Given the description of an element on the screen output the (x, y) to click on. 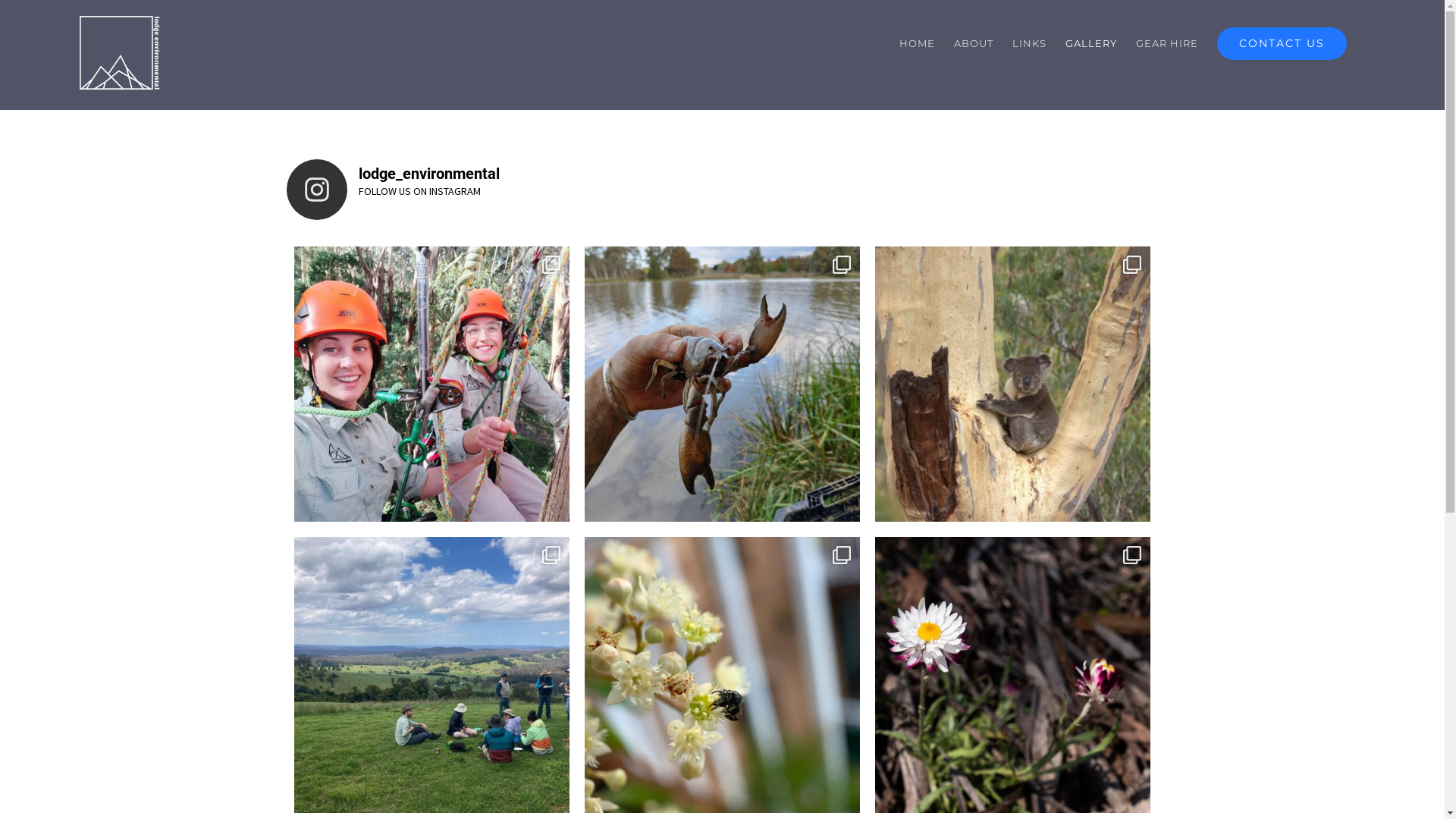
GALLERY Element type: text (1091, 42)
GEAR HIRE Element type: text (1166, 42)
lodge_environmental
FOLLOW US ON INSTAGRAM Element type: text (722, 189)
LINKS Element type: text (1029, 42)
HOME Element type: text (917, 42)
ABOUT Element type: text (973, 42)
CONTACT US Element type: text (1281, 42)
